Given the description of an element on the screen output the (x, y) to click on. 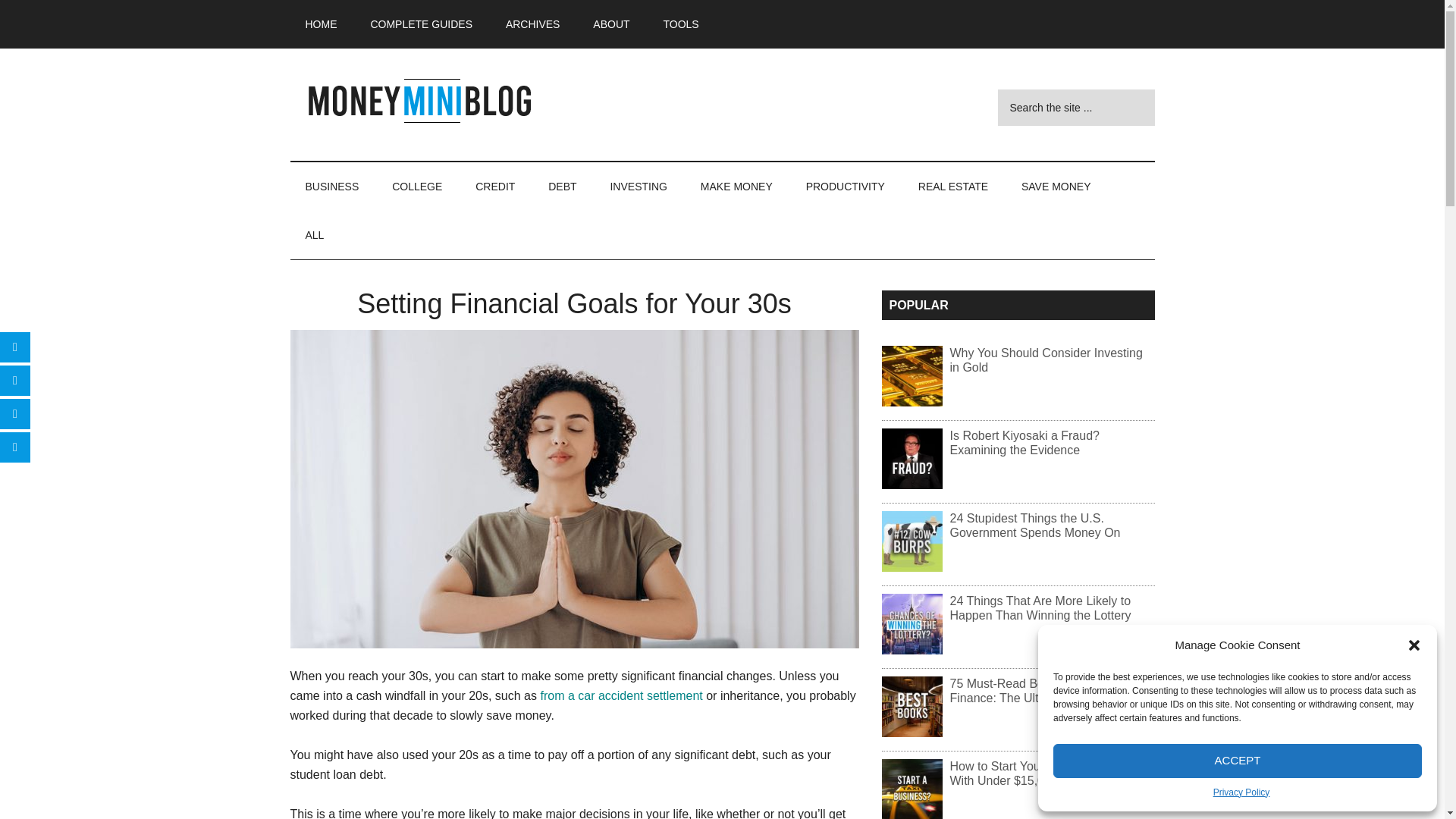
TOOLS (680, 24)
DEBT (561, 186)
Privacy Policy (1240, 792)
ACCEPT (1237, 759)
BUSINESS (331, 186)
COLLEGE (417, 186)
COMPLETE GUIDES (421, 24)
CREDIT (494, 186)
ARCHIVES (532, 24)
HOME (320, 24)
ABOUT (611, 24)
